Given the description of an element on the screen output the (x, y) to click on. 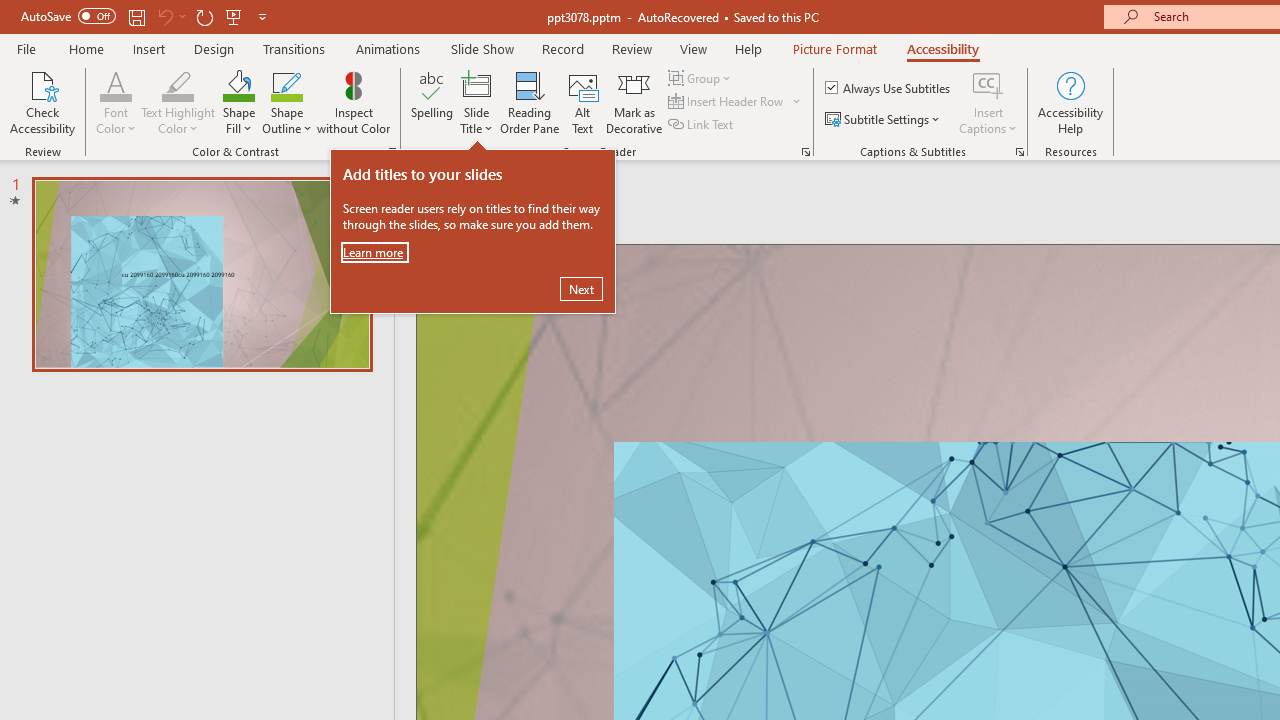
Link Text (702, 124)
Insert Captions (988, 102)
Insert Captions (988, 84)
Group (701, 78)
Slide Title (476, 102)
